Given the description of an element on the screen output the (x, y) to click on. 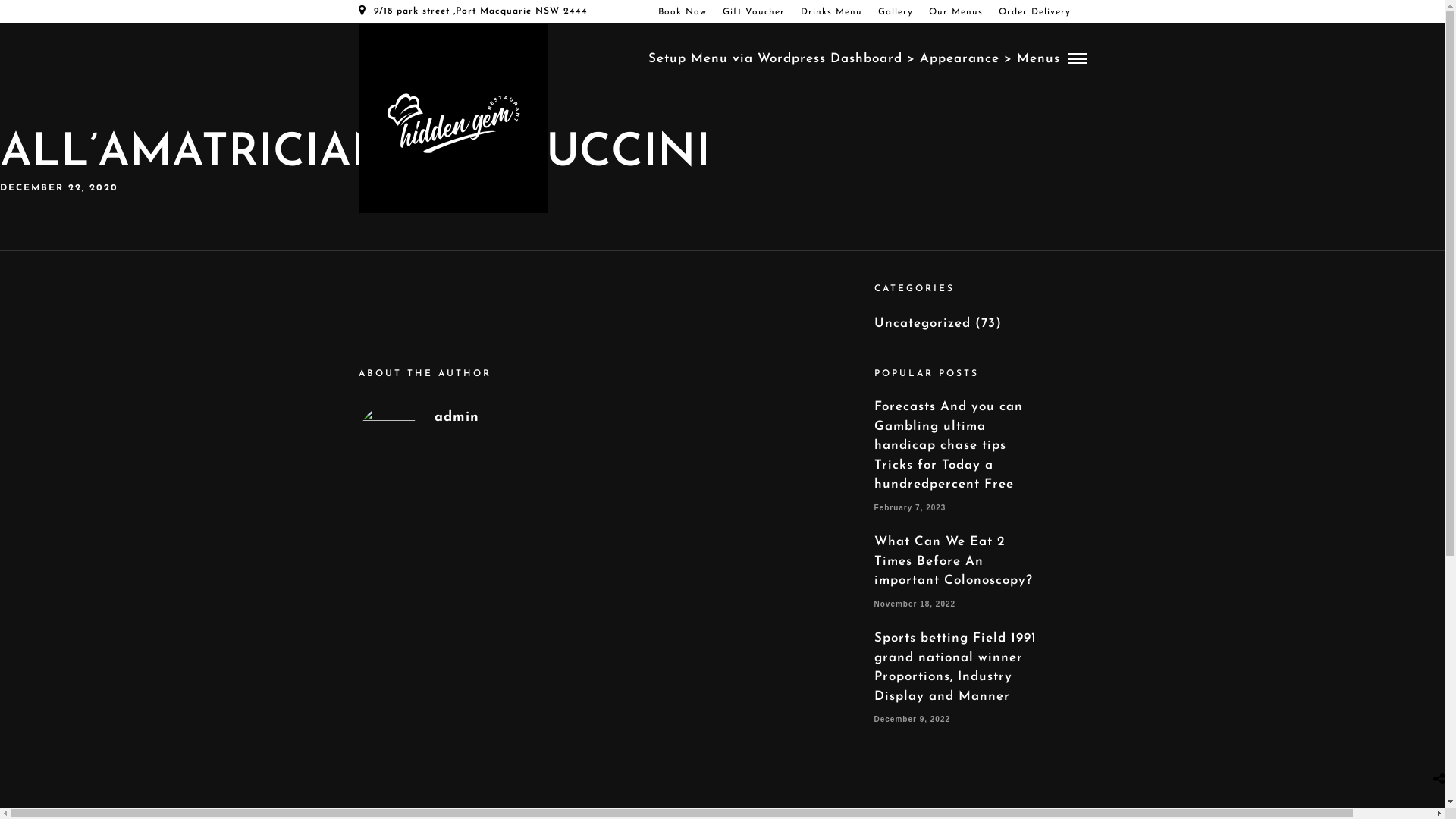
Drinks Menu Element type: text (835, 11)
Gift Voucher Element type: text (756, 11)
Uncategorized Element type: text (921, 322)
Call Us For Bookings - 0478590001 Element type: text (452, 33)
Order Delivery Element type: text (1037, 11)
What Can We Eat 2 Times Before An important Colonoscopy? Element type: text (952, 560)
Book Now Element type: text (686, 11)
Gallery Element type: text (899, 11)
Our Menus Element type: text (959, 11)
